Given the description of an element on the screen output the (x, y) to click on. 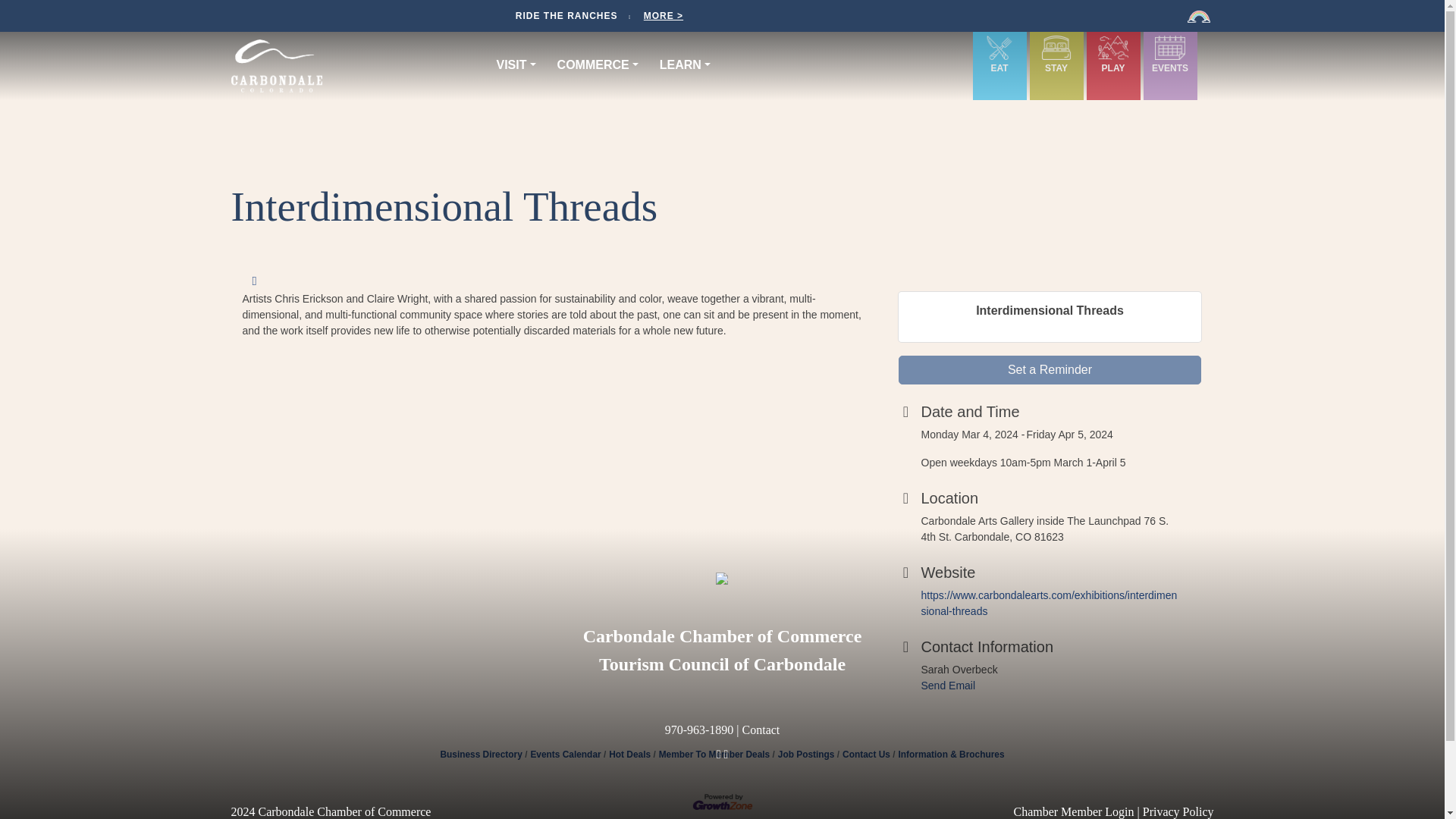
LEARN (689, 64)
EAT (999, 57)
STAY (1056, 57)
COMMERCE (602, 64)
VISIT (519, 64)
